Given the description of an element on the screen output the (x, y) to click on. 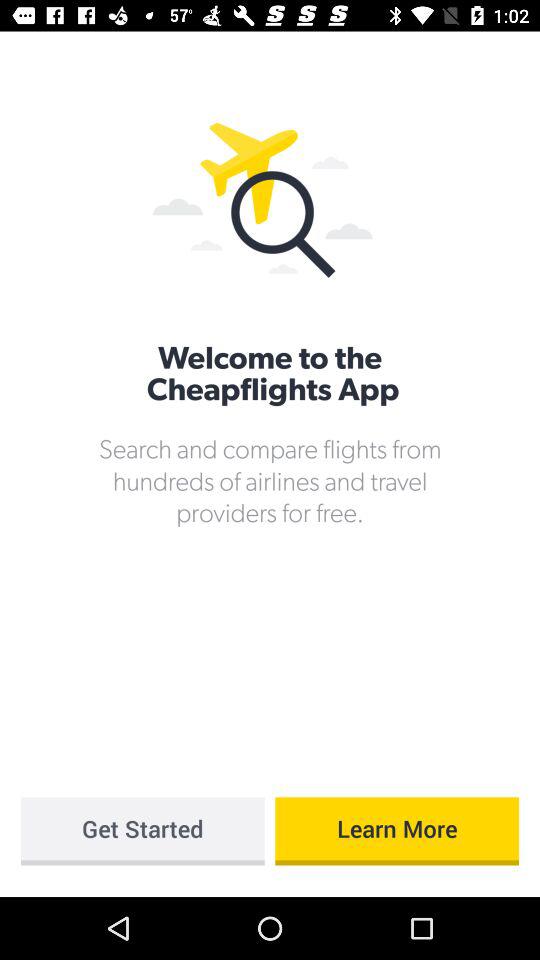
open item at the bottom left corner (142, 831)
